Given the description of an element on the screen output the (x, y) to click on. 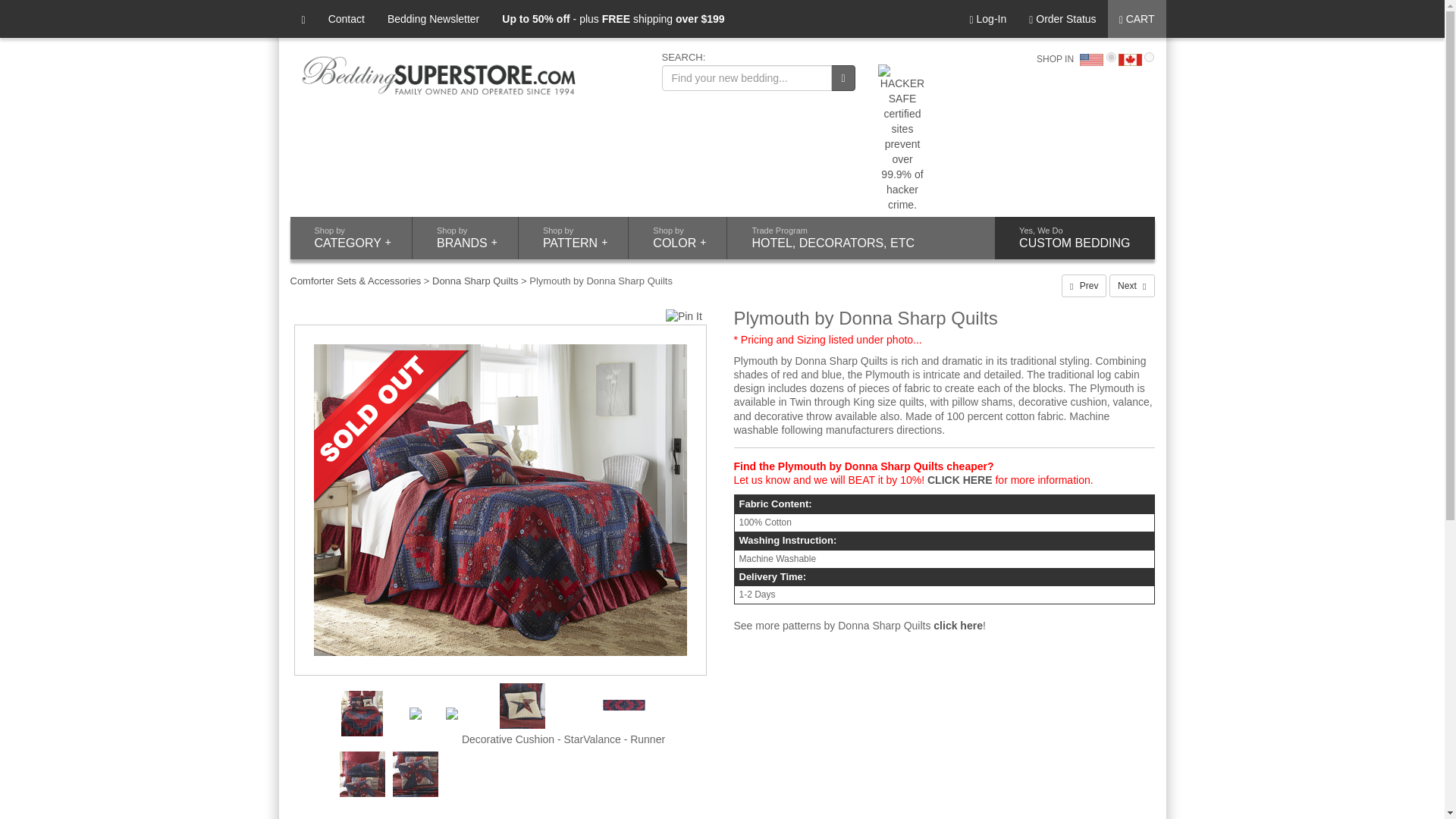
1 (1111, 57)
Contact (346, 18)
CART (1137, 18)
Log-In (987, 18)
2 (1149, 57)
Bedding Newsletter (432, 18)
Order Status (1061, 18)
Pin It (683, 316)
